Given the description of an element on the screen output the (x, y) to click on. 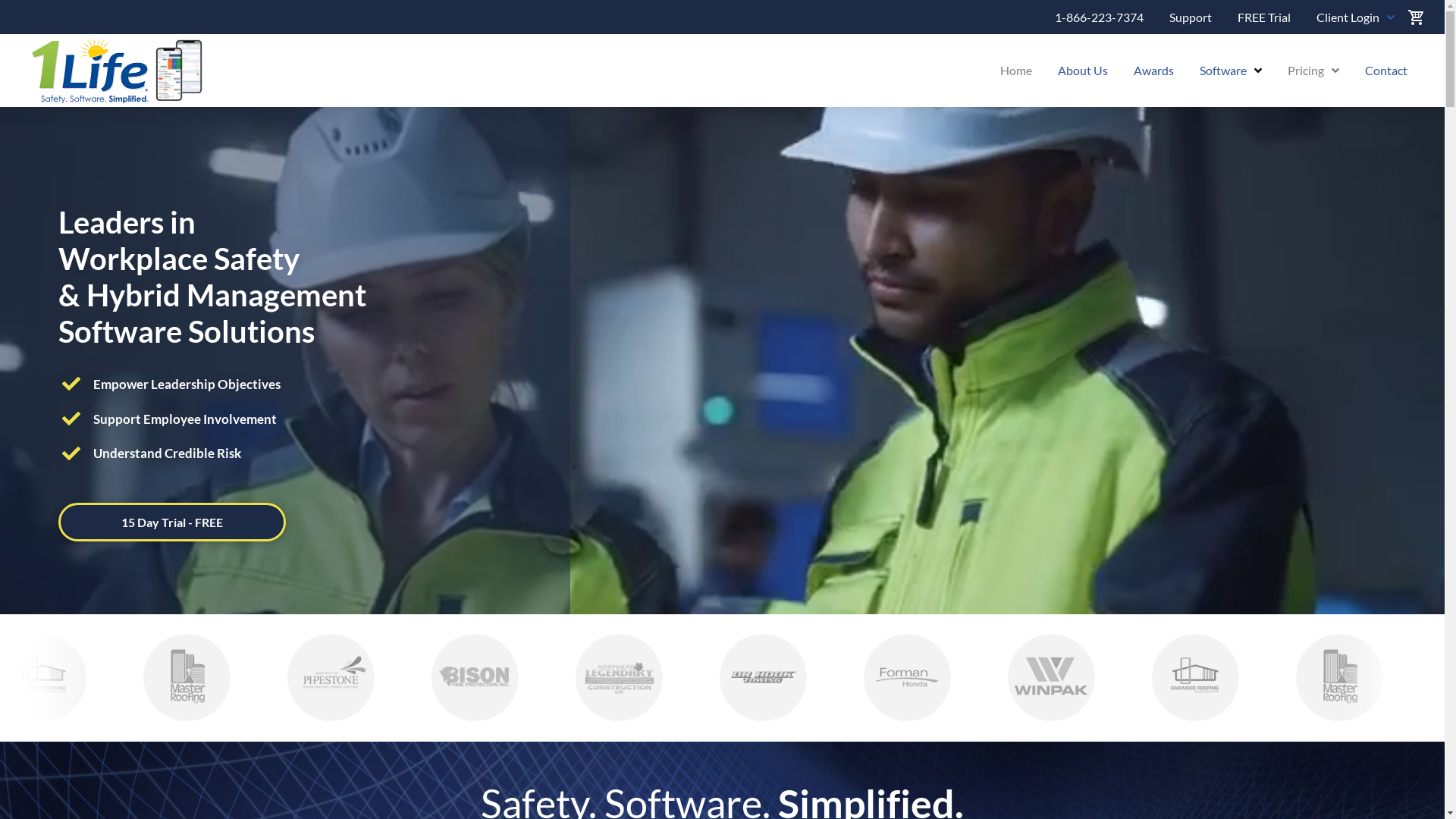
15 Day Trial - FREE Element type: text (171, 521)
Foreman Honda Element type: hover (878, 676)
Home Element type: text (1015, 70)
Contact Element type: text (1386, 70)
The Municipality of Pipestone Element type: hover (296, 676)
Winpak Element type: hover (1024, 676)
Oakwood Roofing Element type: hover (1170, 676)
Master Roofing Element type: hover (176, 676)
About Us Element type: text (1082, 70)
Pricing Element type: text (1313, 70)
Master Roofing Element type: hover (1316, 676)
Dr. Hook Towing Element type: hover (732, 676)
Legendary Construction Element type: hover (587, 676)
Bison Fire Protection Element type: hover (441, 676)
Awards Element type: text (1153, 70)
Software Element type: text (1230, 70)
